Given the description of an element on the screen output the (x, y) to click on. 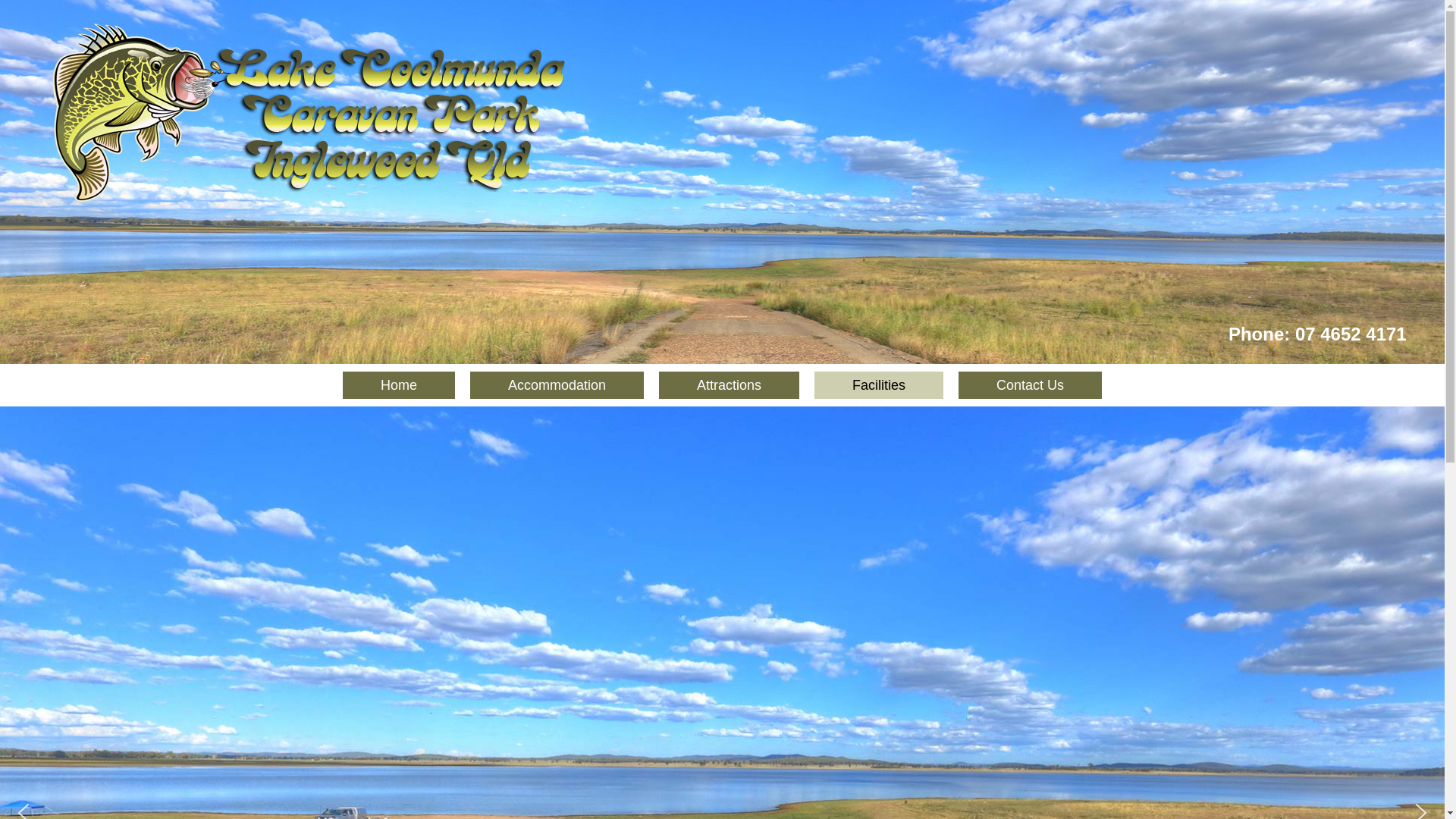
Contact Us Element type: text (1029, 384)
Facilities Element type: text (878, 384)
Accommodation Element type: text (556, 384)
Attractions Element type: text (728, 384)
Home Element type: text (398, 384)
